Given the description of an element on the screen output the (x, y) to click on. 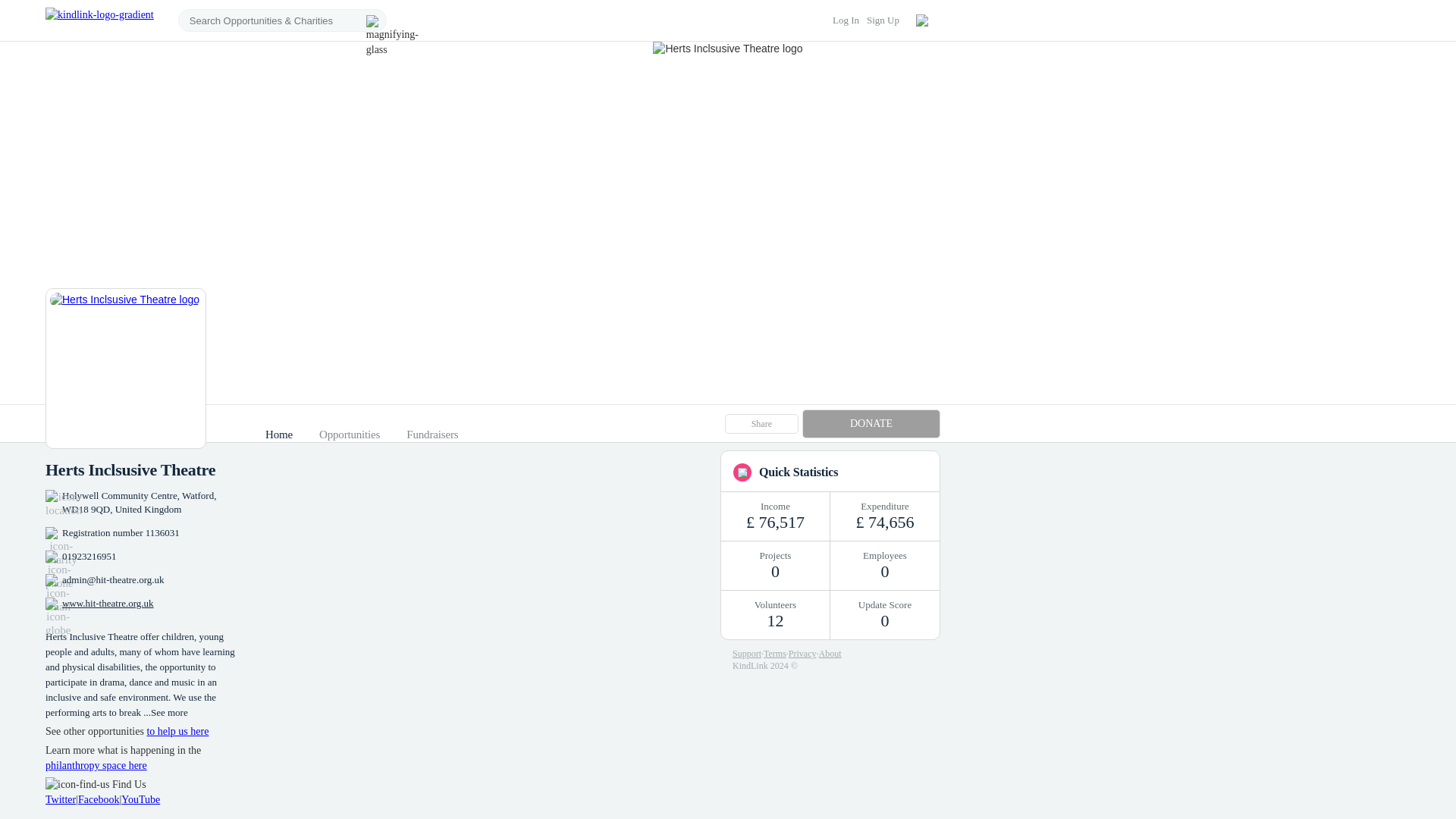
philanthropy space here (96, 765)
go to Kindlink main page (99, 20)
to help us here (177, 731)
About (829, 653)
Facebook (98, 799)
go to charity profile page (124, 368)
See more (169, 712)
Twitter (60, 799)
Privacy (802, 653)
Sign Up (882, 19)
YouTube (140, 799)
Fundraisers (432, 434)
www.hit-theatre.org.uk (108, 603)
Support (746, 653)
Terms (774, 653)
